Given the description of an element on the screen output the (x, y) to click on. 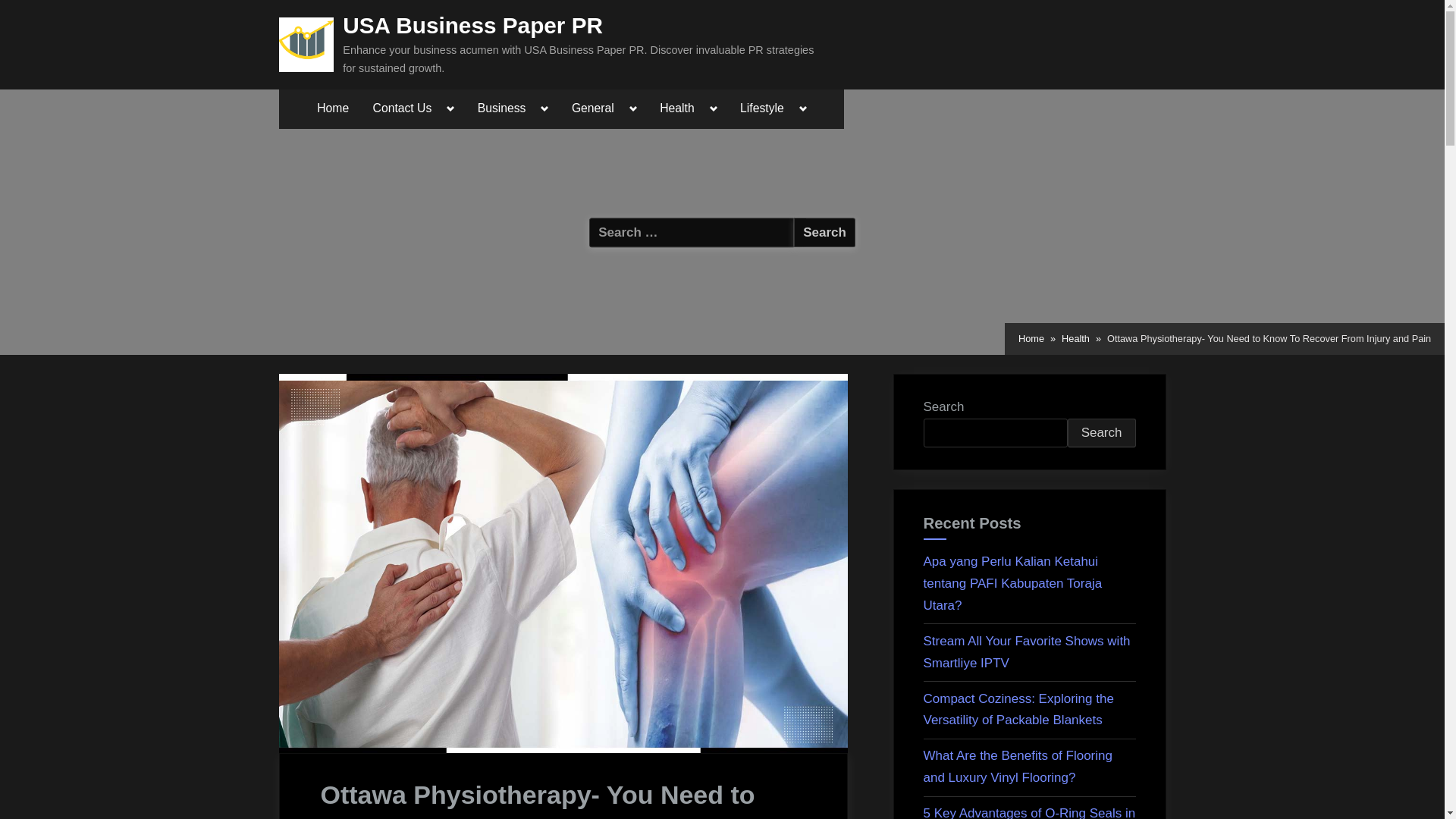
Search (824, 232)
Search (824, 232)
Toggle sub-menu (714, 108)
Home (1030, 338)
Toggle sub-menu (634, 108)
Home (332, 108)
Search (824, 232)
Business (501, 108)
Health (1075, 338)
General (593, 108)
